Given the description of an element on the screen output the (x, y) to click on. 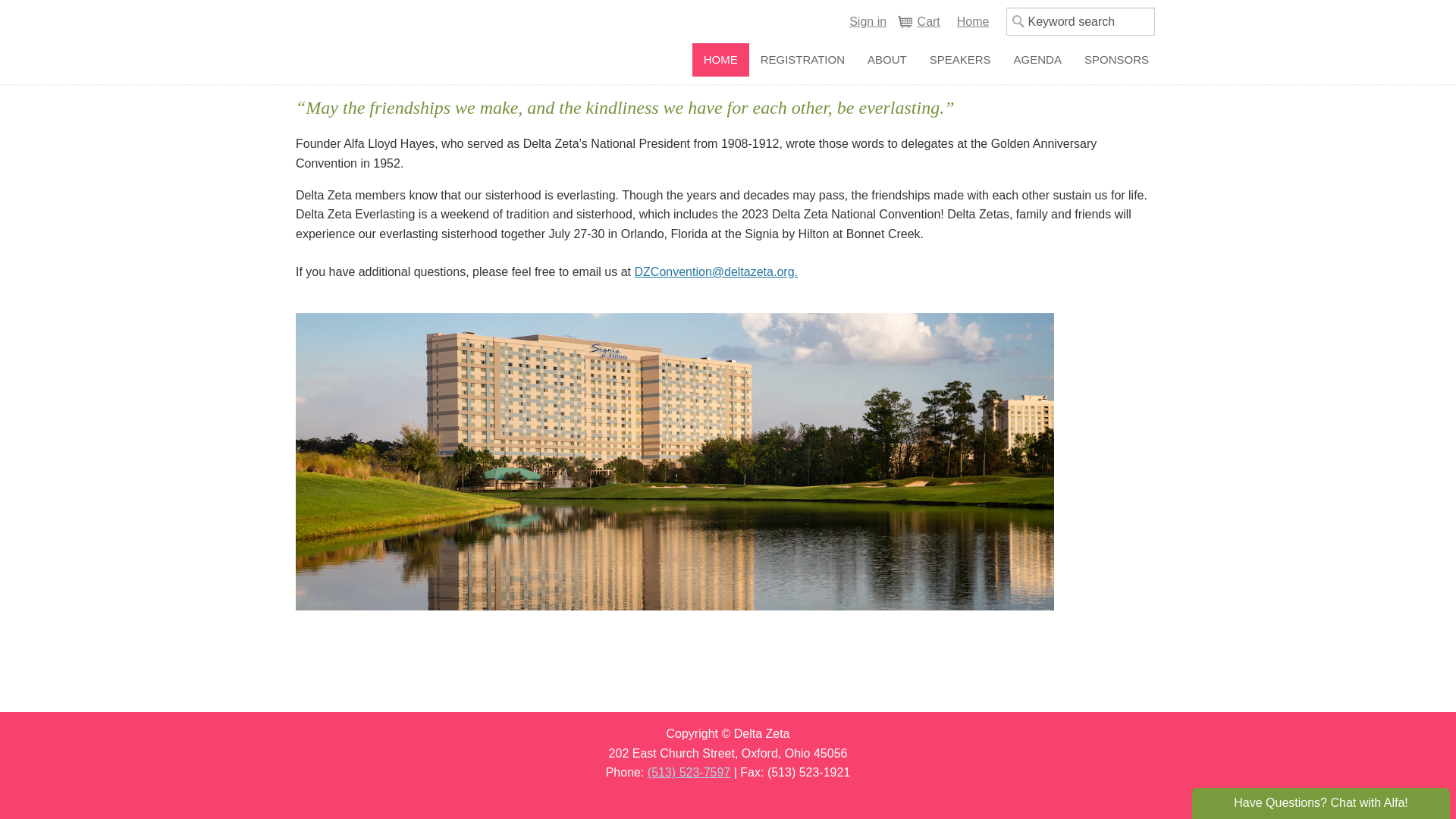
Home (972, 21)
HOME (721, 59)
Keyword search (1080, 21)
AGENDA (1038, 59)
SPEAKERS (960, 59)
Sign in (867, 21)
Cart (917, 21)
SPONSORS (1116, 59)
ABOUT (887, 59)
Keyword search (1080, 21)
REGISTRATION (802, 59)
